Given the description of an element on the screen output the (x, y) to click on. 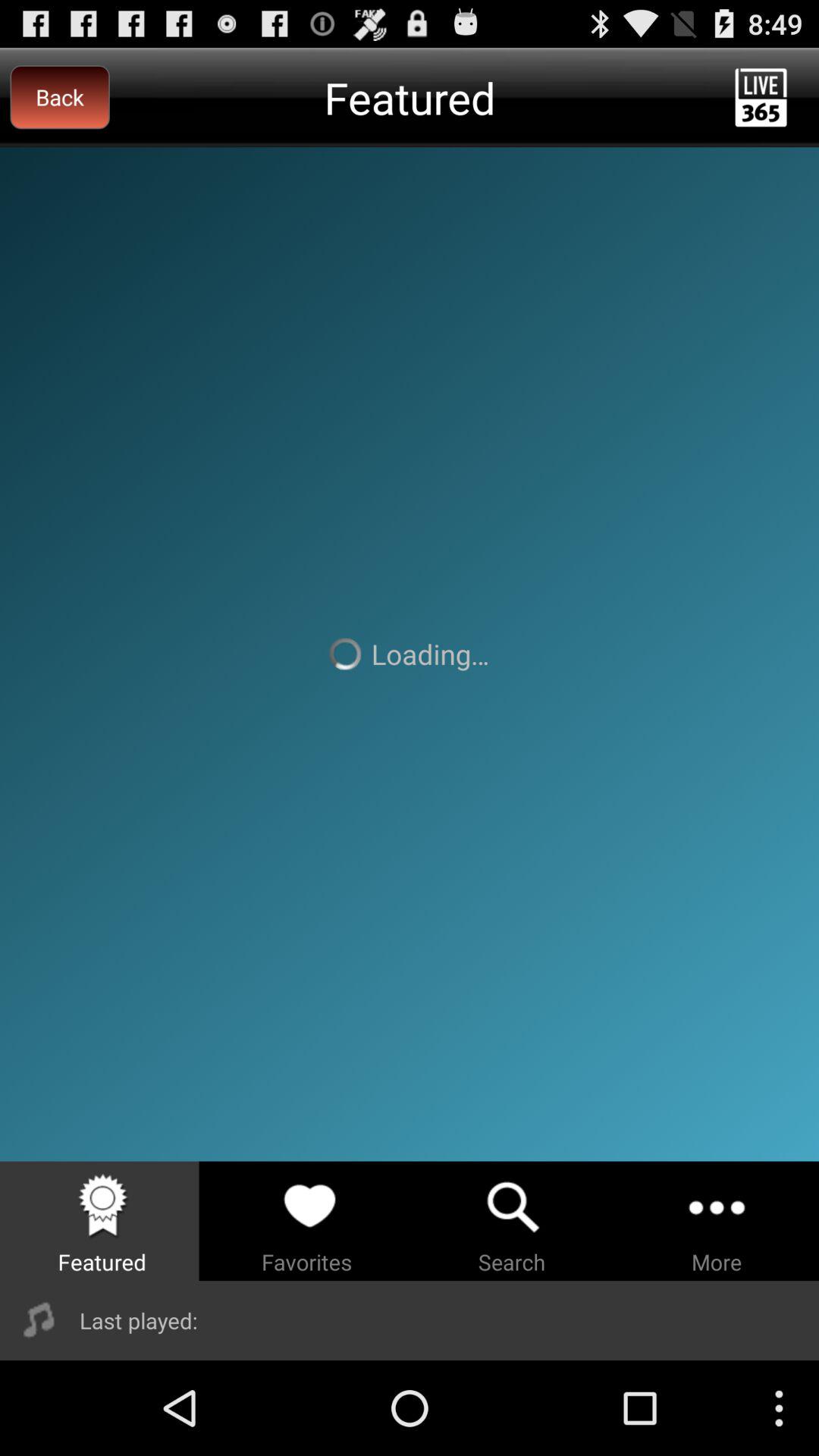
click the item to the left of the featured (59, 97)
